Given the description of an element on the screen output the (x, y) to click on. 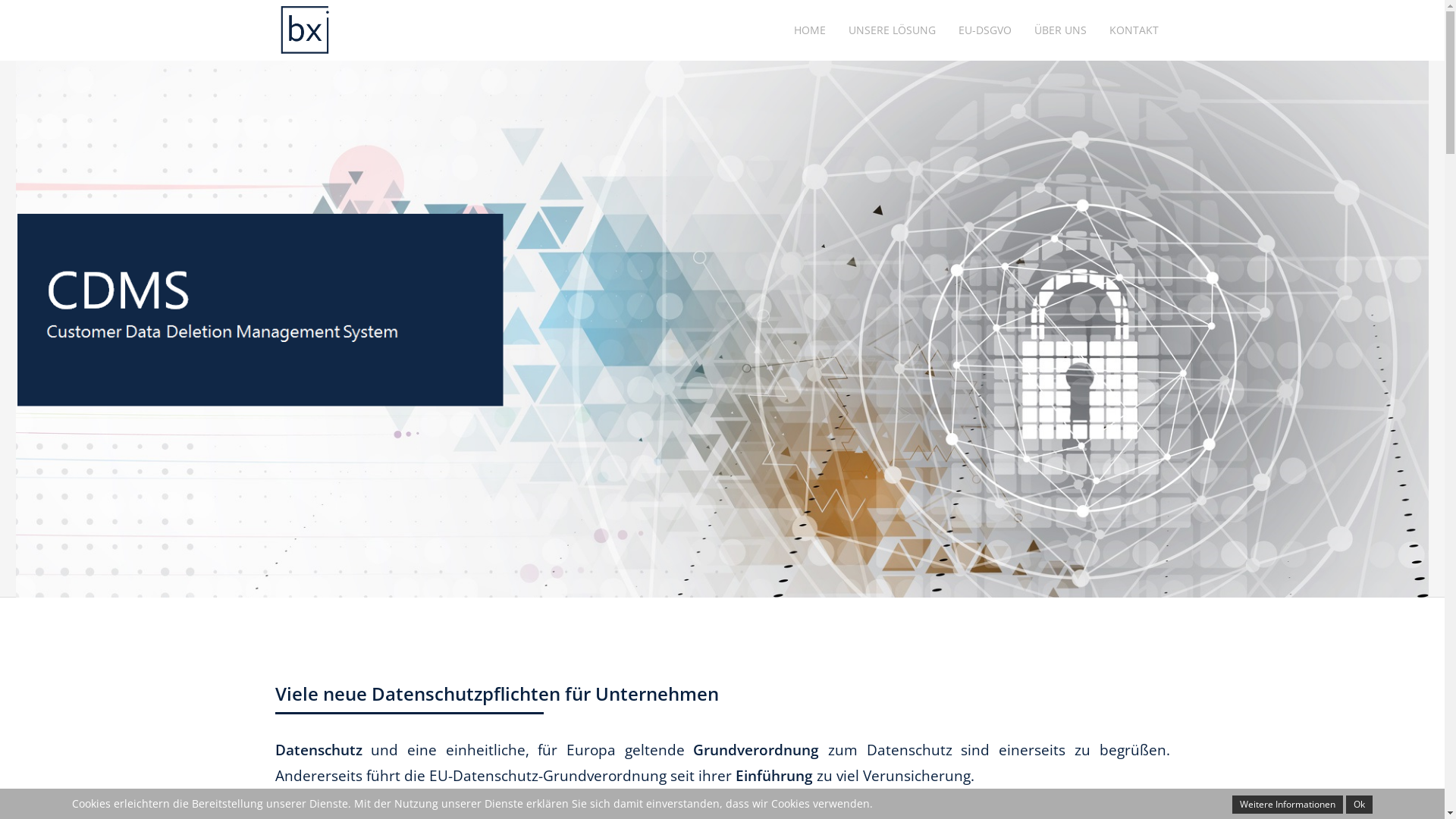
Ok Element type: text (1359, 804)
EU-DSGVO Element type: text (984, 30)
HOME Element type: text (809, 30)
Weitere Informationen Element type: text (1287, 804)
KONTAKT Element type: text (1134, 30)
